Given the description of an element on the screen output the (x, y) to click on. 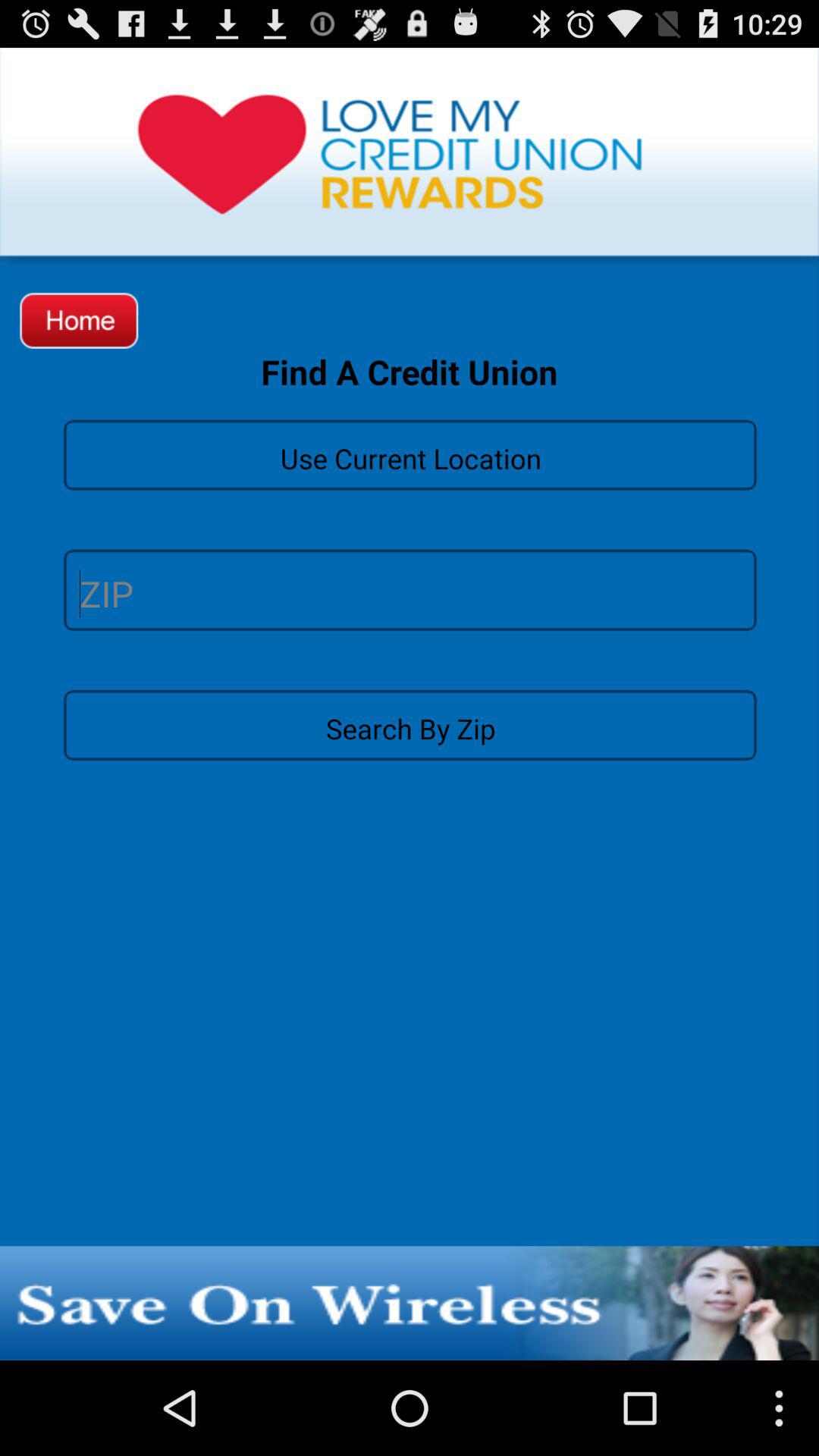
swipe to search by zip icon (409, 724)
